Given the description of an element on the screen output the (x, y) to click on. 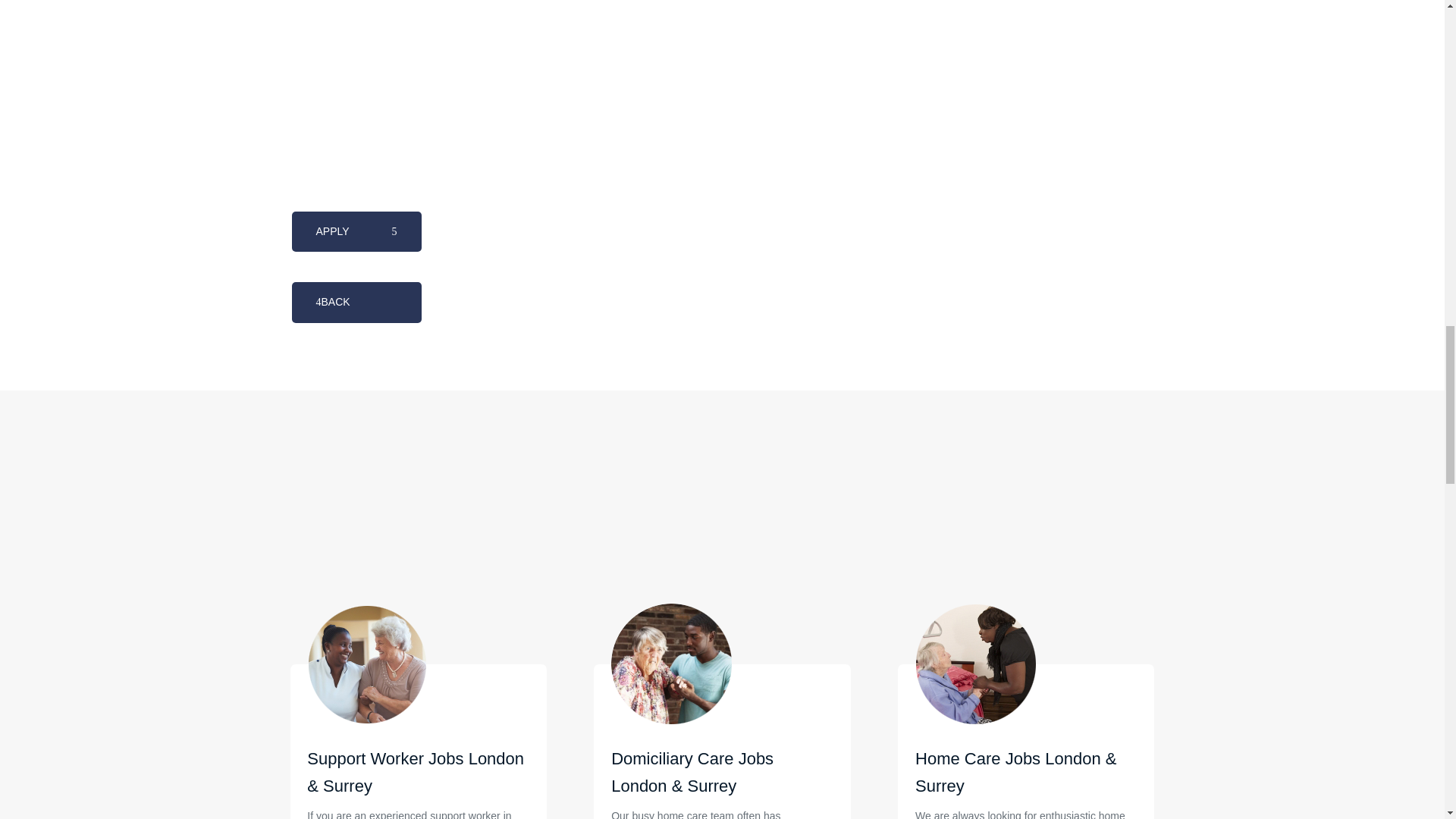
APPLY (355, 231)
i231mage-new (671, 663)
i23mage-new (367, 663)
i2312mage-new (975, 663)
BACK (355, 301)
